Given the description of an element on the screen output the (x, y) to click on. 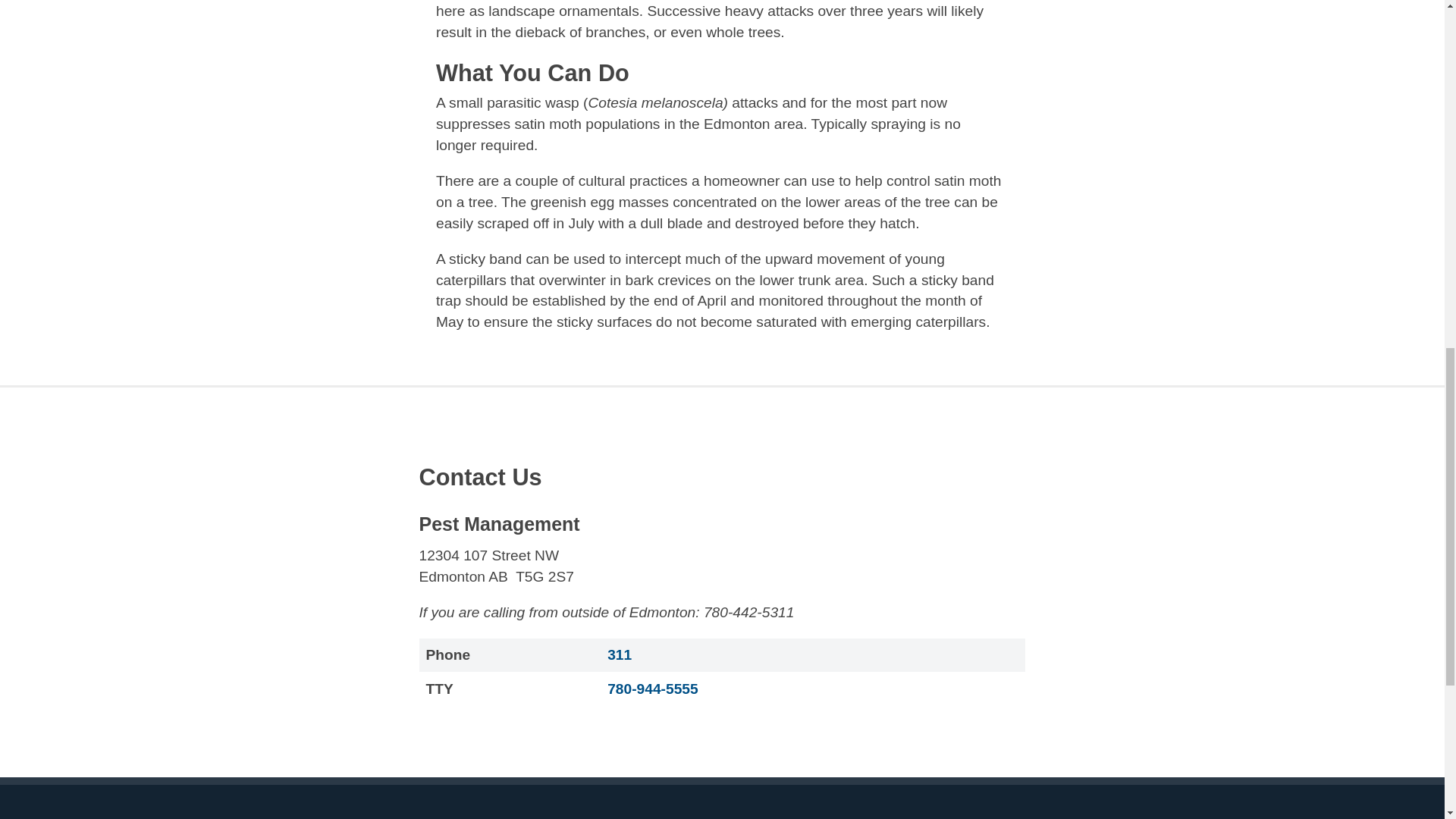
311 (619, 654)
780-944-5555 (652, 688)
